Given the description of an element on the screen output the (x, y) to click on. 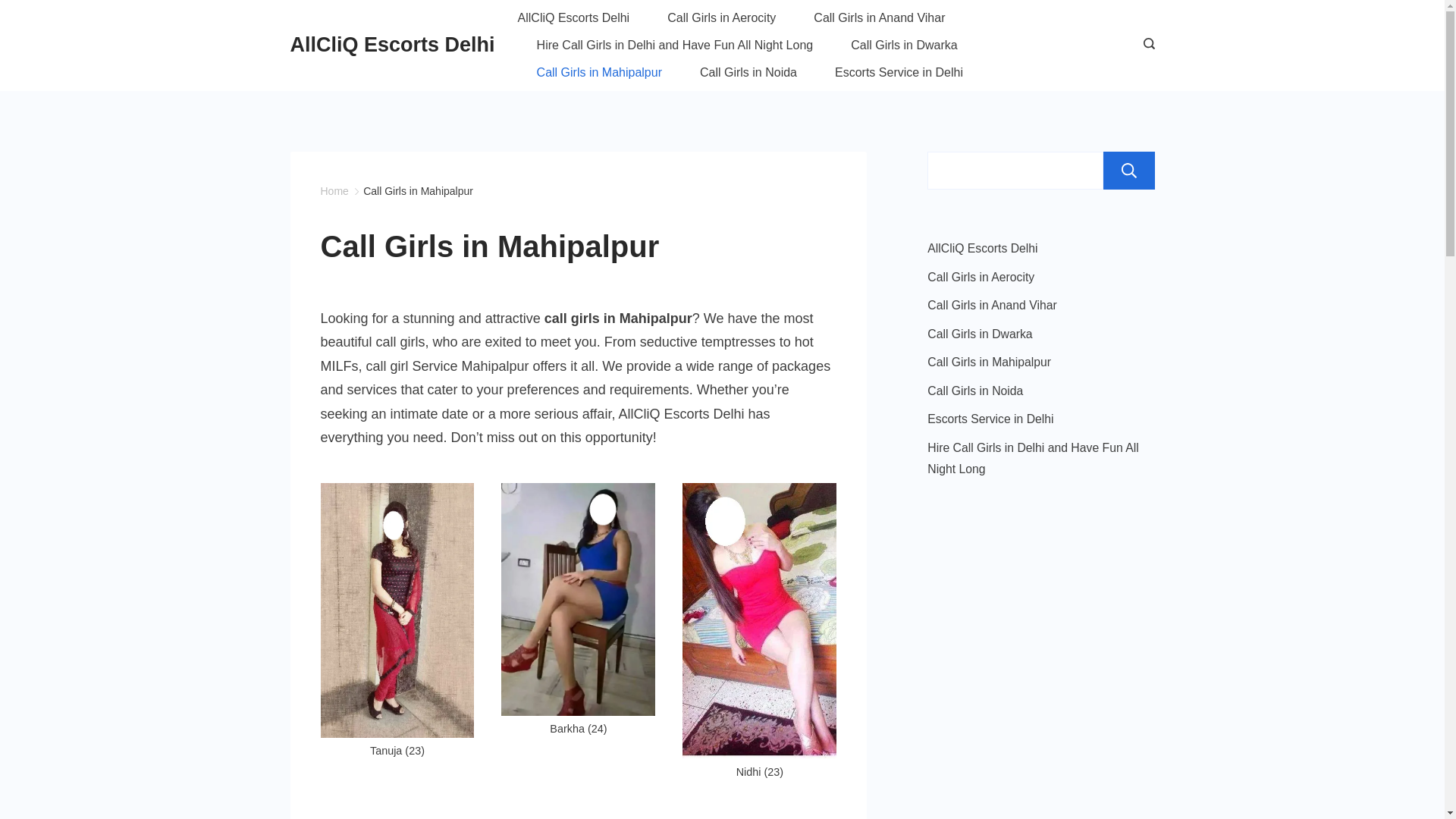
AllCliQ Escorts Delhi Element type: text (391, 44)
Escorts Service in Delhi Element type: text (889, 72)
AllCliQ Escorts Delhi Element type: text (583, 17)
Escorts Service in Delhi Element type: text (990, 418)
Call Girls in Noida Element type: text (747, 72)
Call Girls in Mahipalpur Element type: text (989, 361)
Call Girls in Aerocity Element type: text (980, 276)
Hire Call Girls in Delhi and Have Fun All Night Long Element type: text (1032, 458)
Call Girls in Aerocity Element type: text (721, 17)
Call Girls in Anand Vihar Element type: text (991, 304)
Hire Call Girls in Delhi and Have Fun All Night Long Element type: text (674, 45)
Search Element type: text (1128, 170)
Call Girls in Dwarka Element type: text (979, 333)
Call Girls in Mahipalpur Element type: text (598, 72)
AllCliQ Escorts Delhi Element type: text (982, 247)
Call Girls in Noida Element type: text (974, 390)
Call Girls in Dwarka Element type: text (903, 45)
Call Girls in Anand Vihar Element type: text (878, 17)
Call Girls in Mahipalpur Element type: text (418, 191)
Home Element type: text (334, 191)
